Given the description of an element on the screen output the (x, y) to click on. 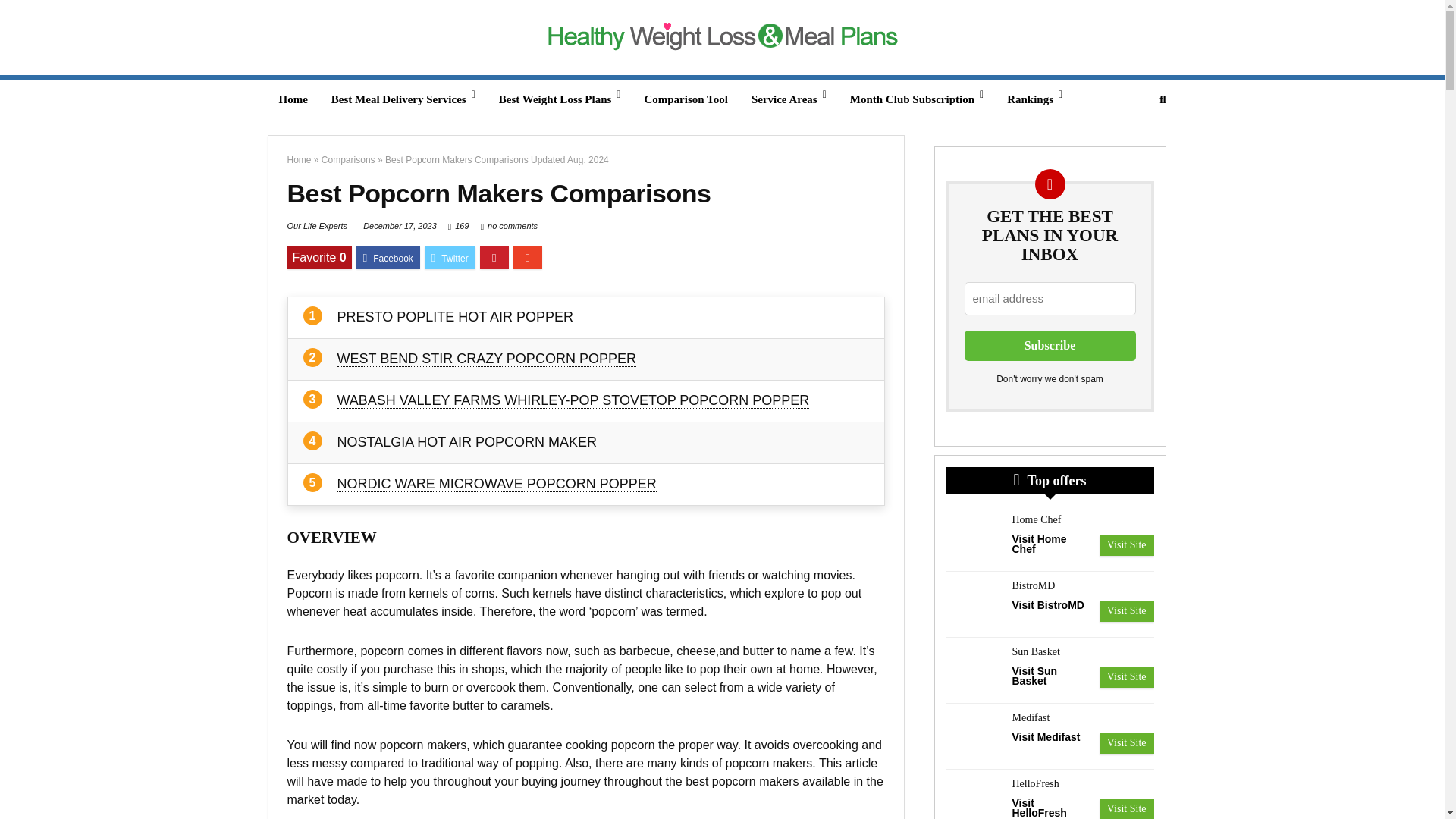
Service Areas (788, 99)
Comparison Tool (684, 99)
Best Weight Loss Plans (559, 99)
Home (292, 99)
Subscribe (1049, 345)
Best Meal Delivery Services (403, 99)
